Given the description of an element on the screen output the (x, y) to click on. 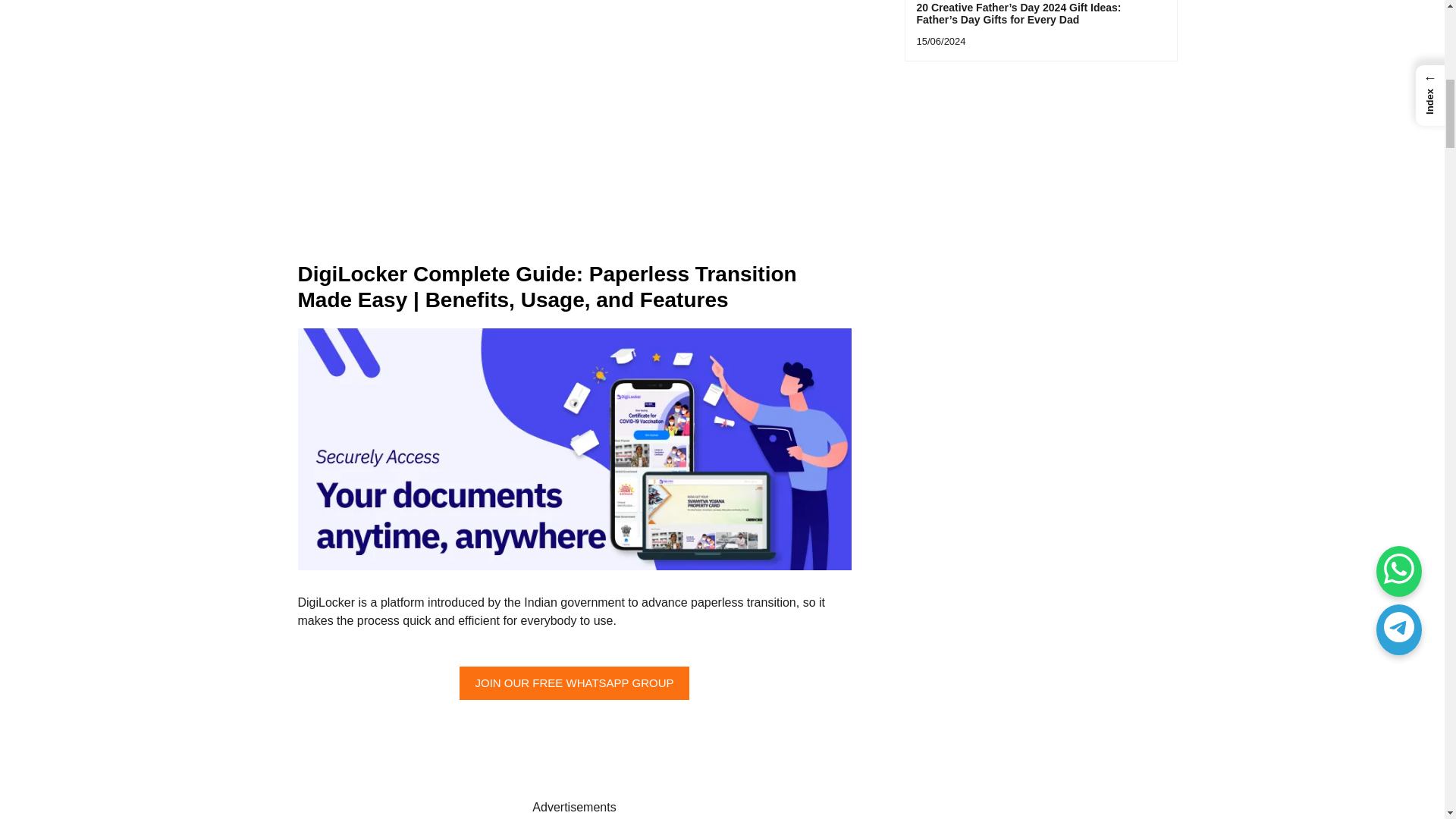
Advertisement (573, 125)
